Given the description of an element on the screen output the (x, y) to click on. 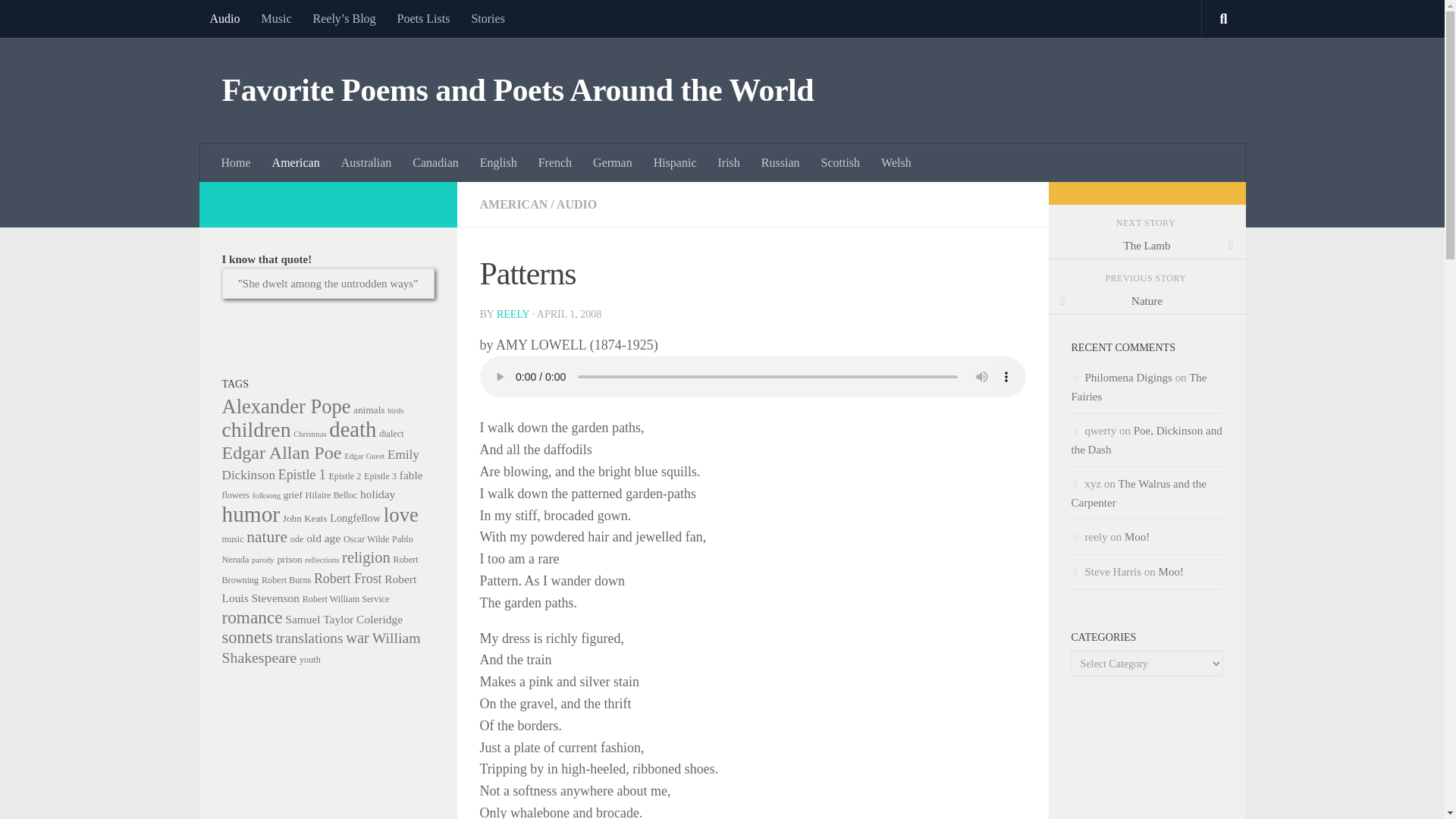
Russian (780, 162)
Scottish (839, 162)
French (554, 162)
Lucy (328, 283)
English (497, 162)
Australian (366, 162)
Favorite Poems and Poets Around the World (517, 90)
Home (236, 162)
Audio (224, 18)
AMERICAN (513, 204)
